Given the description of an element on the screen output the (x, y) to click on. 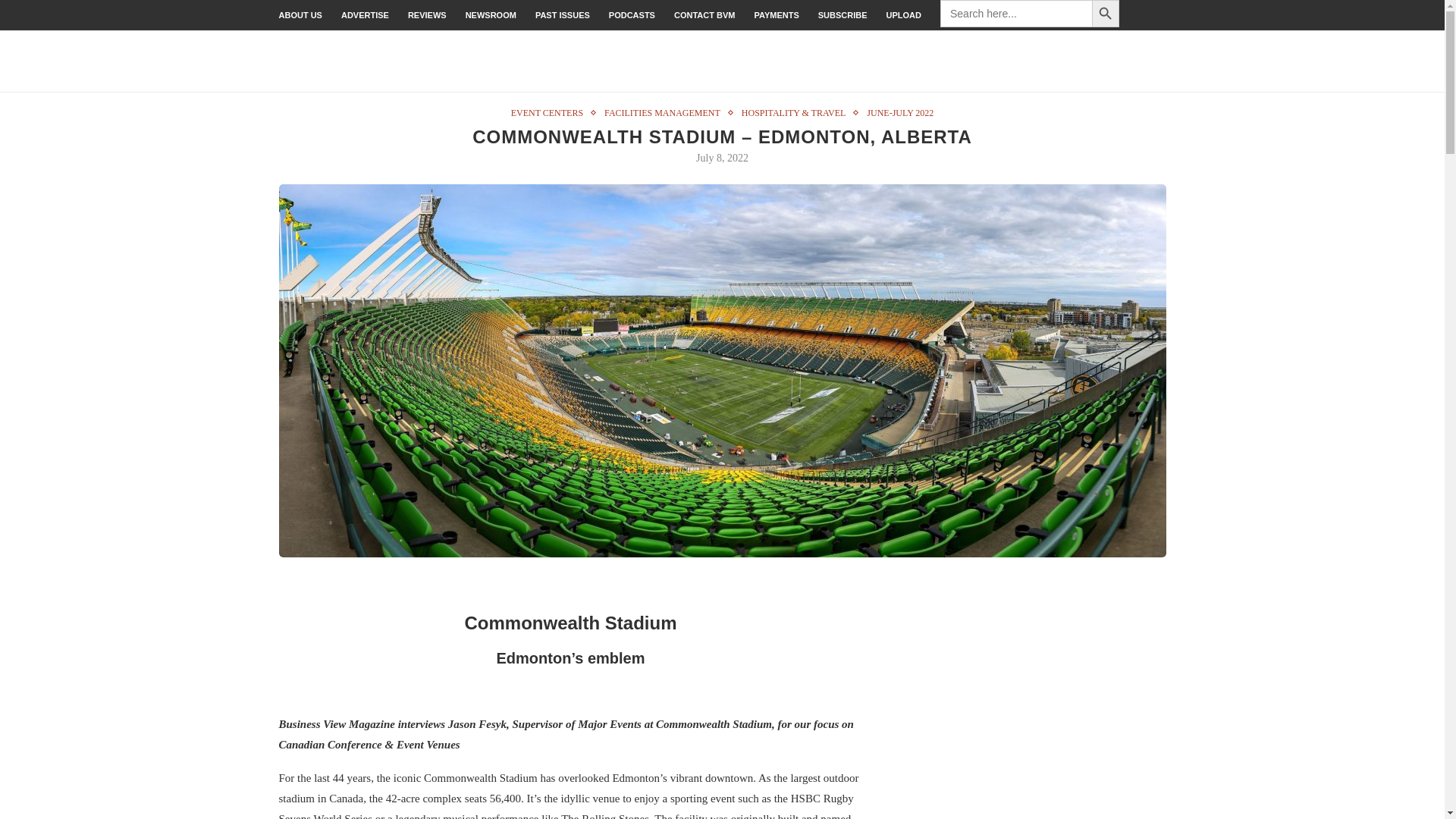
ADVERTISE (364, 14)
Upload (903, 14)
Subscribe (842, 14)
Search Button (1105, 13)
PODCASTS (631, 14)
View all posts in Event Centers (551, 97)
PAYMENTS (775, 14)
JUNE-JULY 2022 (899, 97)
Contact BVM (704, 14)
View all posts in Facilities Management (666, 97)
